Given the description of an element on the screen output the (x, y) to click on. 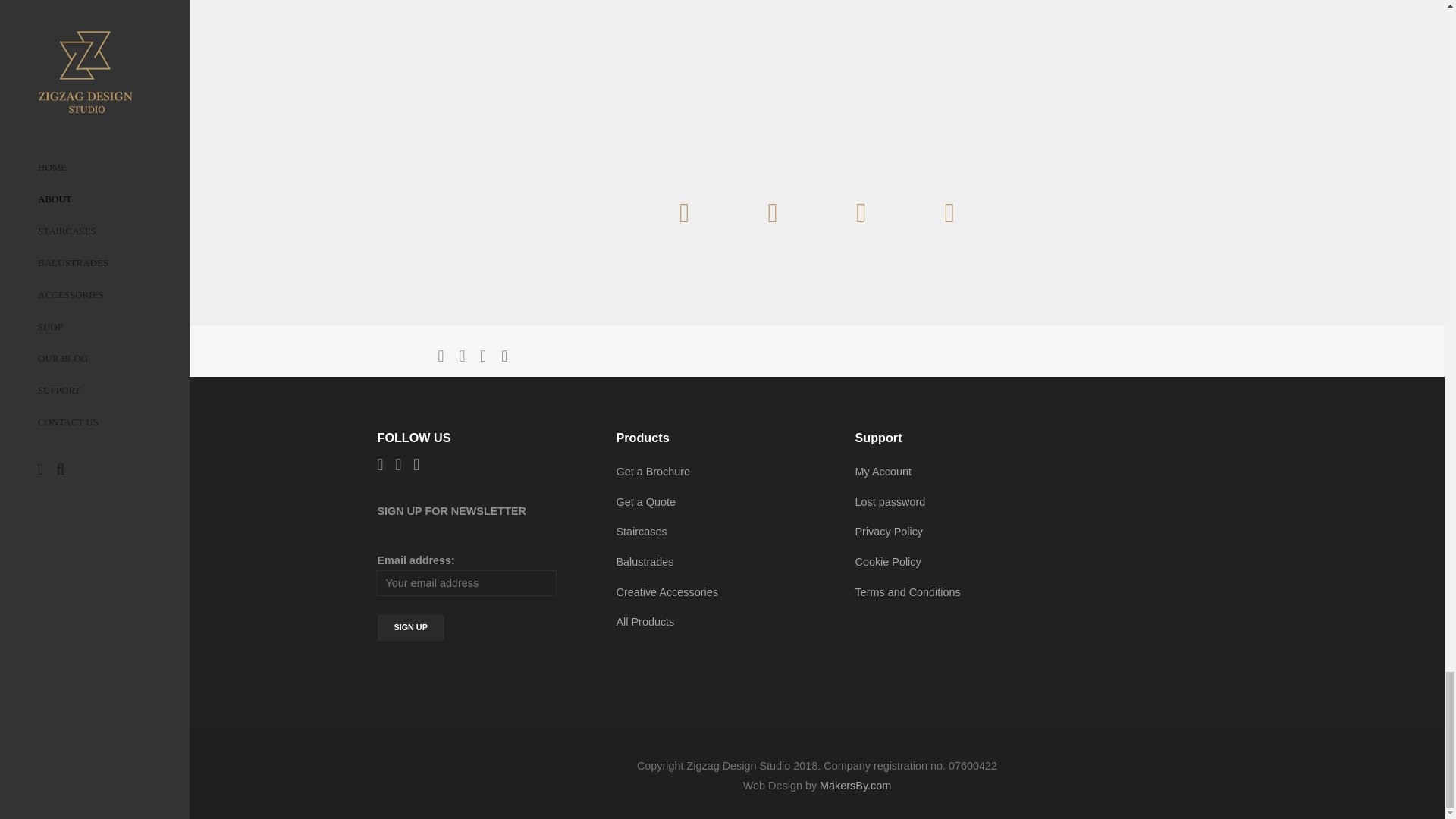
Sign up (410, 627)
